Given the description of an element on the screen output the (x, y) to click on. 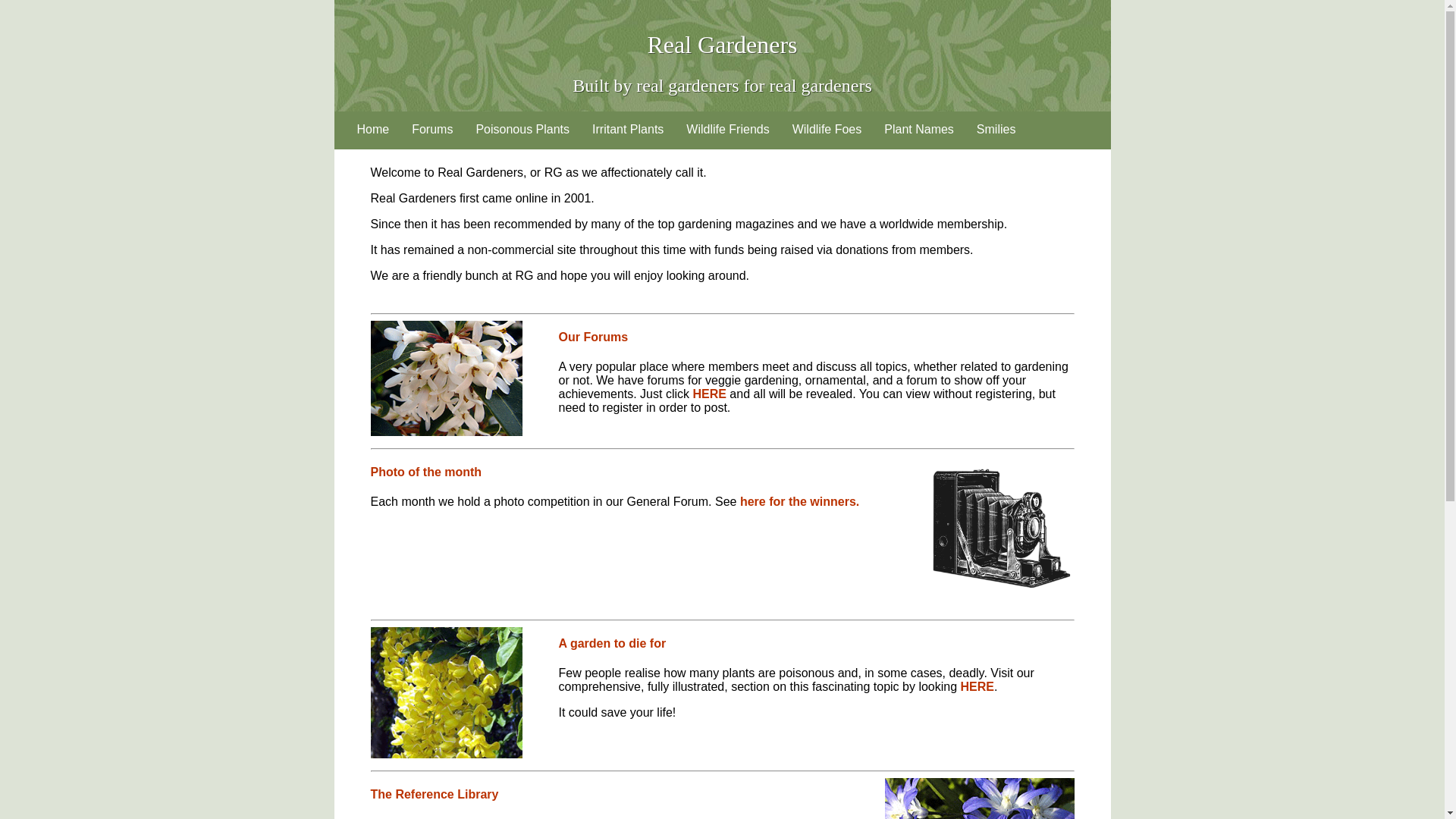
Smilies (996, 129)
Wildlife Friends (727, 129)
Home (373, 129)
Wildlife Foes (826, 129)
HERE (977, 686)
Plant Names (918, 129)
Our Forums (592, 336)
The Reference Library (433, 793)
A garden to die for (611, 643)
here for the winners. (799, 501)
Poisonous Plants (522, 129)
HERE (709, 393)
Real Gardeners (721, 44)
Irritant Plants (627, 129)
Forums (432, 129)
